Given the description of an element on the screen output the (x, y) to click on. 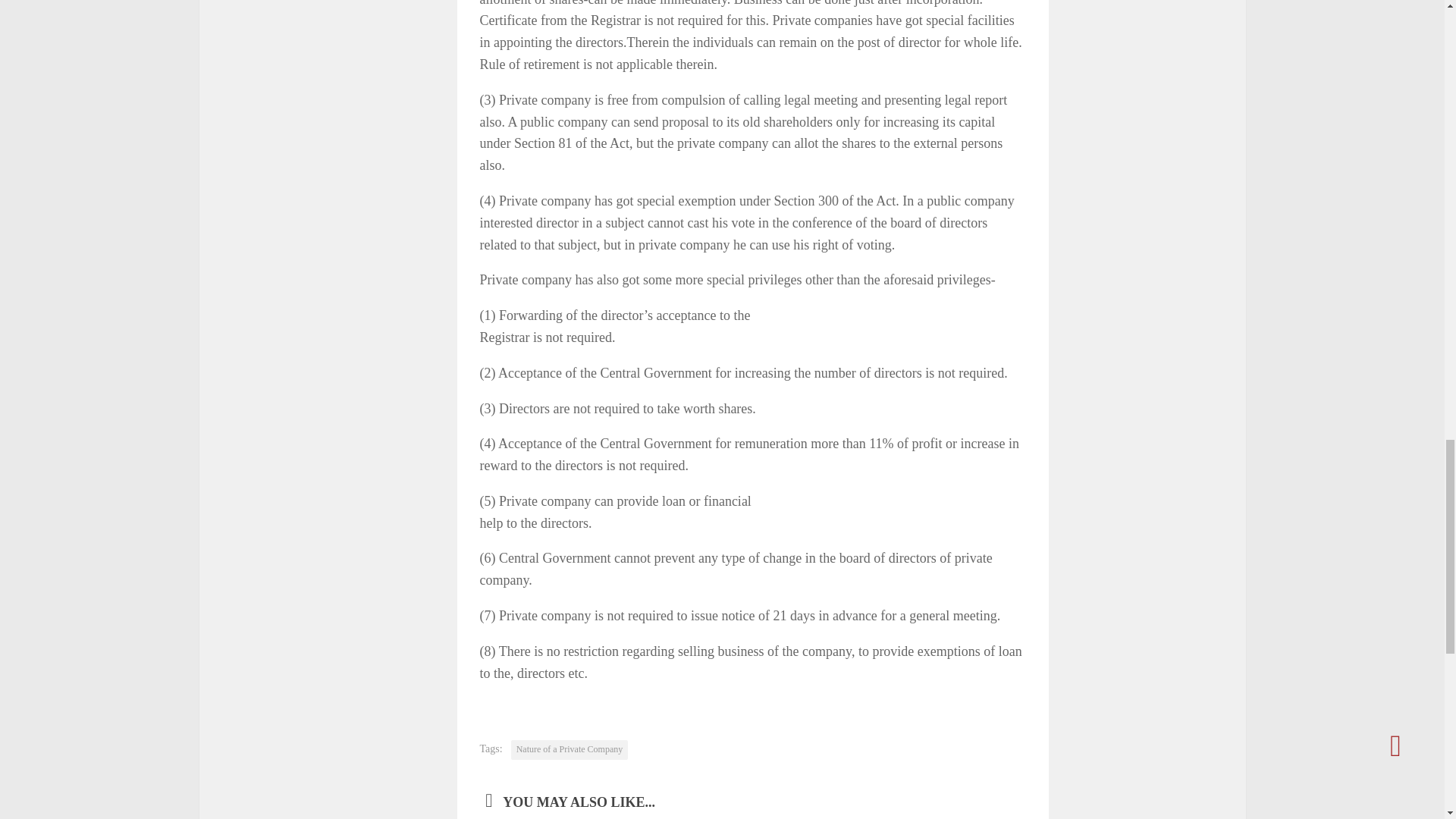
Nature of a Private Company (569, 750)
